Given the description of an element on the screen output the (x, y) to click on. 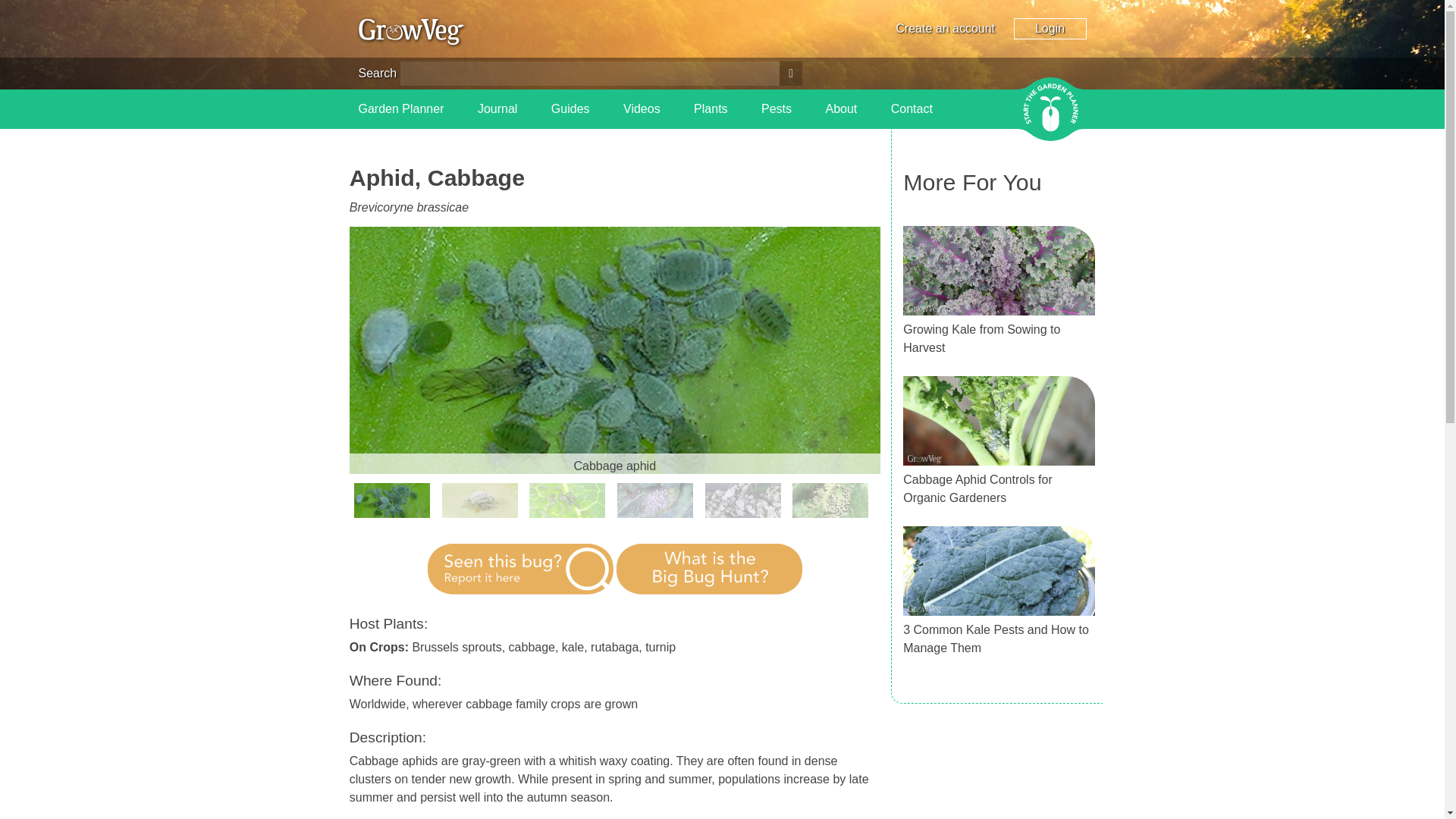
Guides (570, 108)
Growing Kale from Sowing to Harvest (980, 337)
Journal (496, 108)
3 Common Kale Pests and How to Manage Them (995, 638)
Videos (642, 108)
Login (1049, 28)
Cabbage Aphid Controls for Organic Gardeners (977, 488)
Garden Planner (401, 108)
Contact (912, 108)
Create an account (944, 28)
